Given the description of an element on the screen output the (x, y) to click on. 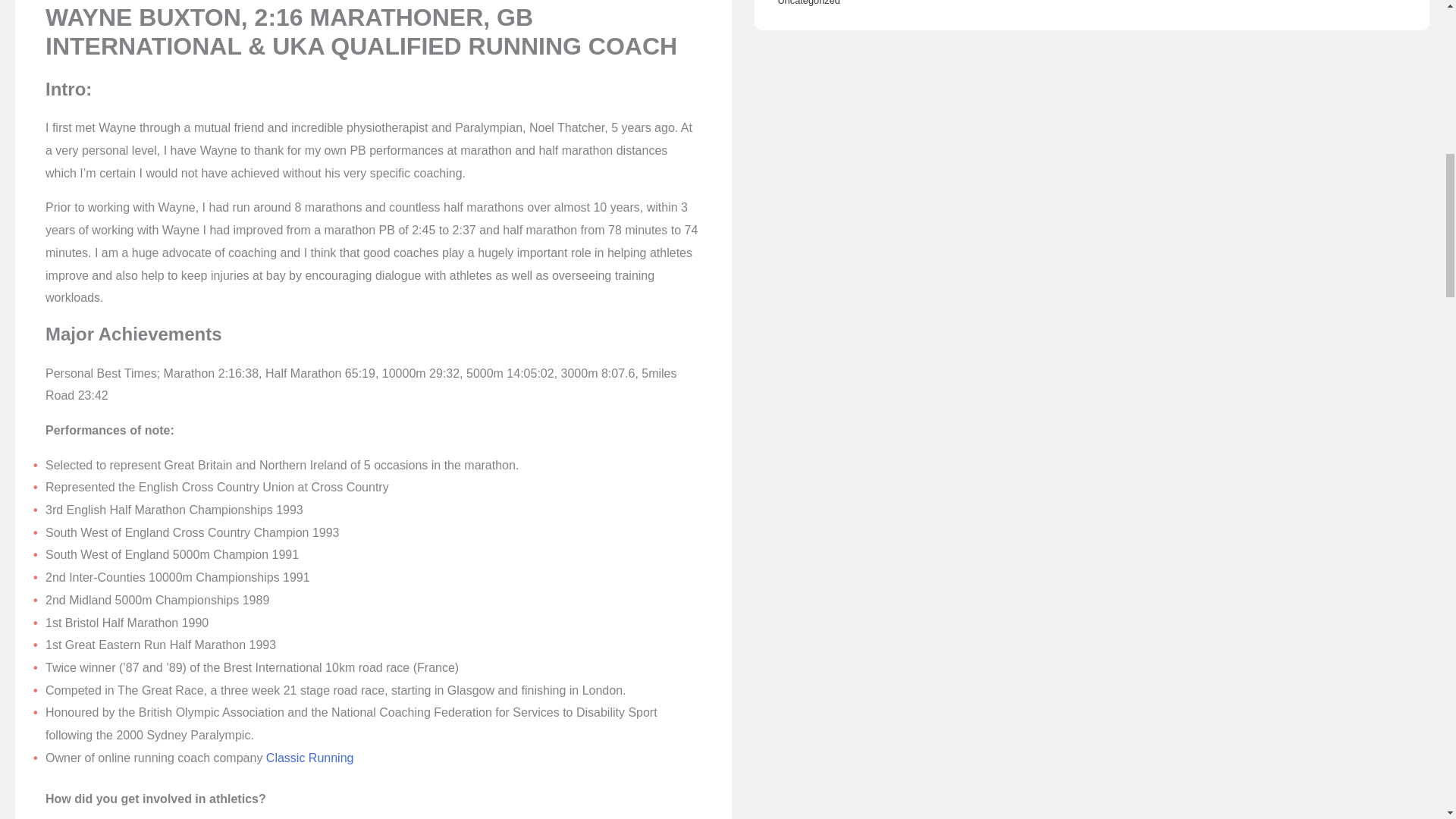
Classic Running (309, 757)
